Given the description of an element on the screen output the (x, y) to click on. 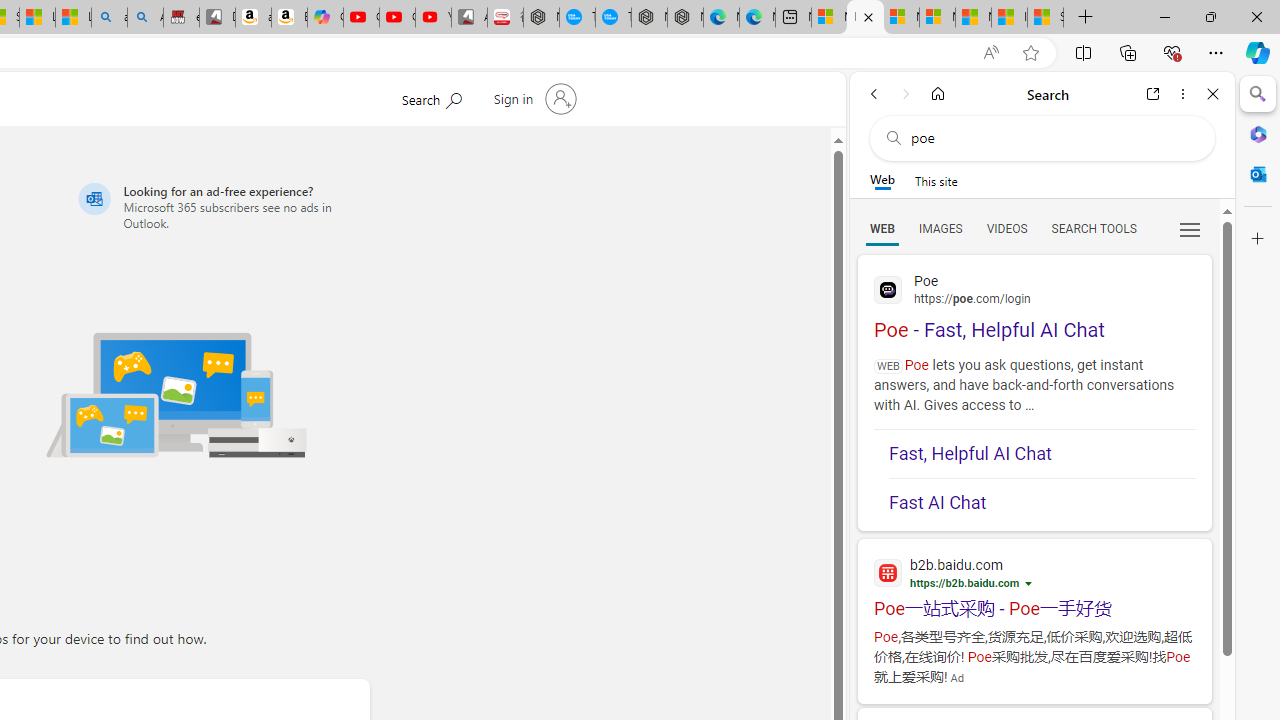
YouTube Kids - An App Created for Kids to Explore Content (433, 17)
Illustration of multiple devices (176, 394)
Customize (1258, 239)
IMAGES (939, 228)
Outlook (1258, 174)
Search Filter, Search Tools (1093, 228)
SEARCH TOOLS (1093, 228)
VIDEOS (1006, 228)
amazon.in/dp/B0CX59H5W7/?tag=gsmcom05-21 (253, 17)
